Given the description of an element on the screen output the (x, y) to click on. 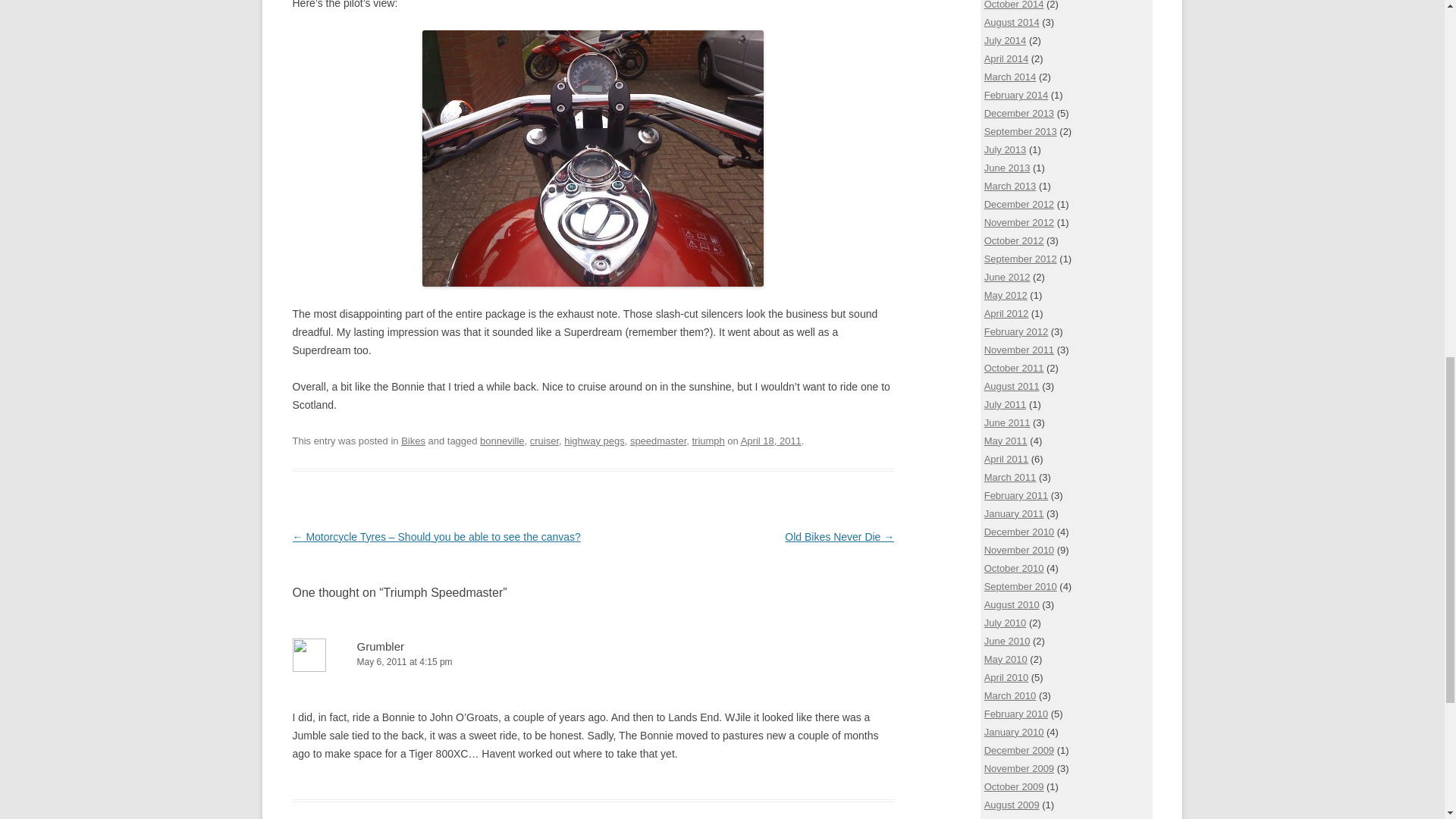
speedmaster (657, 440)
Steve on the Speedmaster Apr11b Pilots View (592, 158)
bonneville (502, 440)
7:22 pm (771, 440)
cruiser (544, 440)
highway pegs (594, 440)
April 18, 2011 (771, 440)
Bikes (413, 440)
triumph (707, 440)
